Given the description of an element on the screen output the (x, y) to click on. 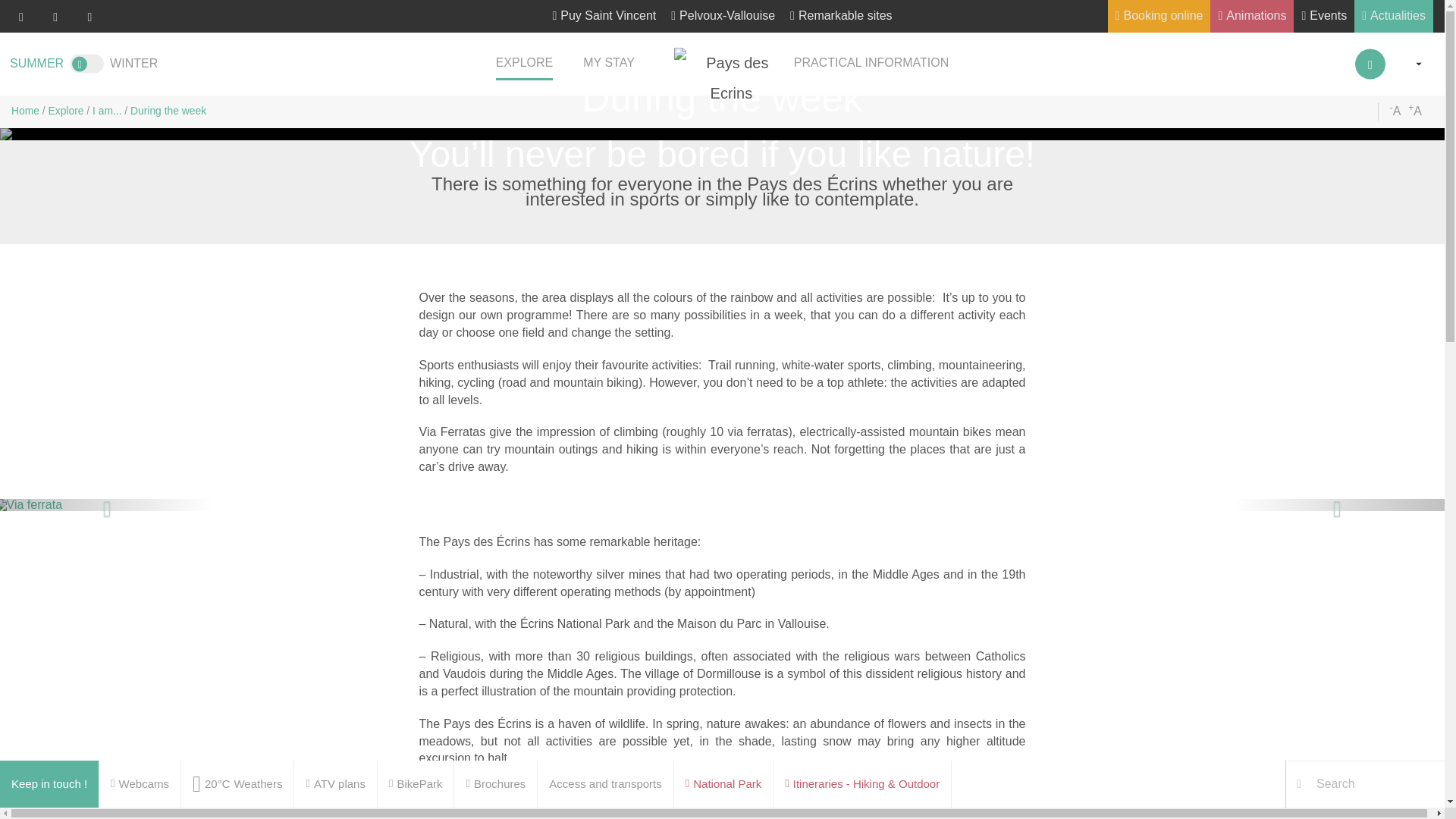
Events (1324, 16)
Booking online (1159, 16)
Remarkable sites (841, 16)
EXPLORE (524, 63)
Animations (1251, 16)
Actualities (1393, 16)
Pelvoux-Vallouise (723, 16)
Puy Saint Vincent (603, 16)
